Given the description of an element on the screen output the (x, y) to click on. 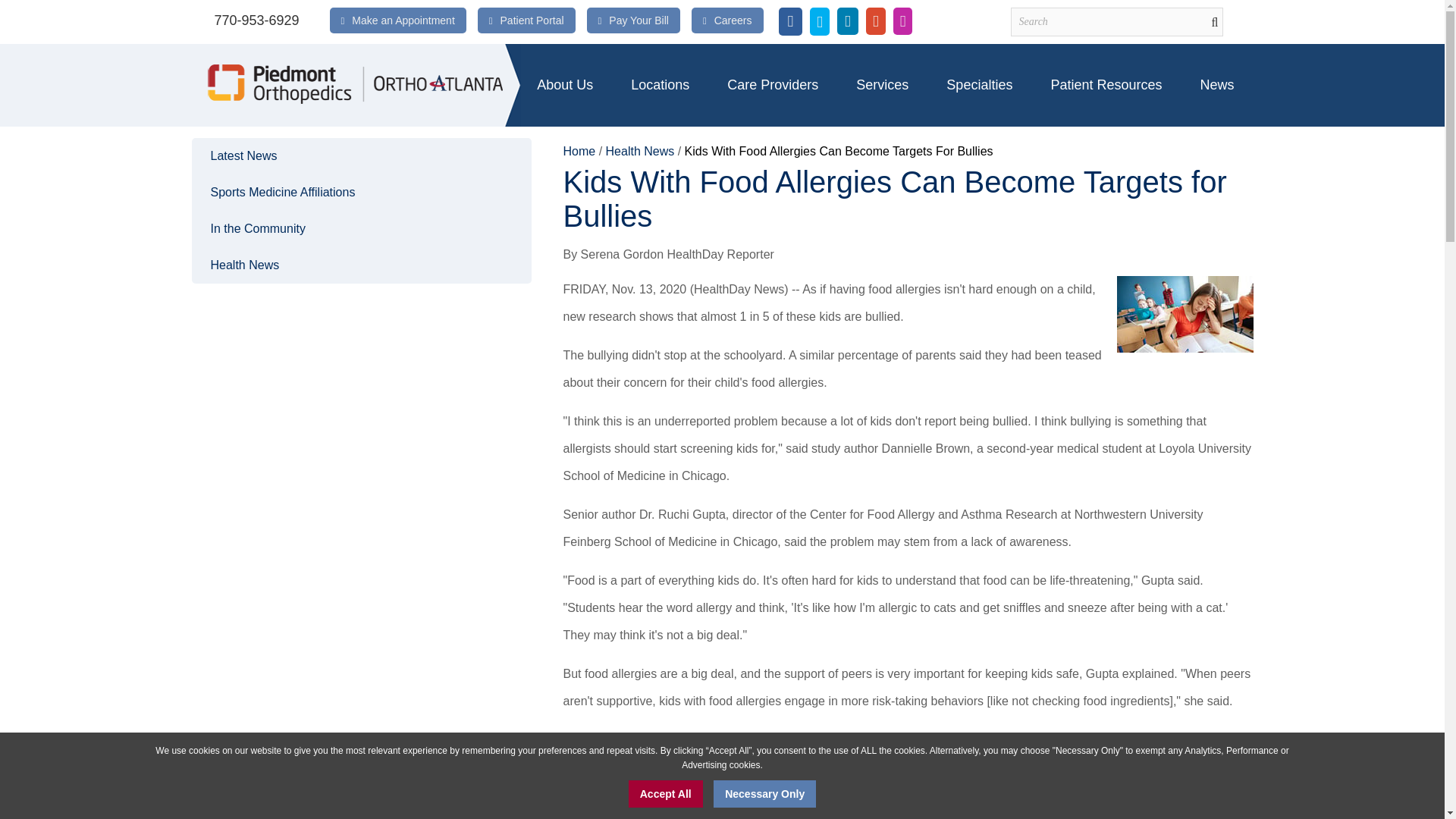
Locations (659, 85)
Make an Appointment (403, 19)
Search (1116, 21)
Careers (733, 19)
770-953-6929 (256, 20)
Search (1116, 21)
Pay Your Bill (638, 19)
About Us (564, 85)
Patient Portal (532, 19)
